Given the description of an element on the screen output the (x, y) to click on. 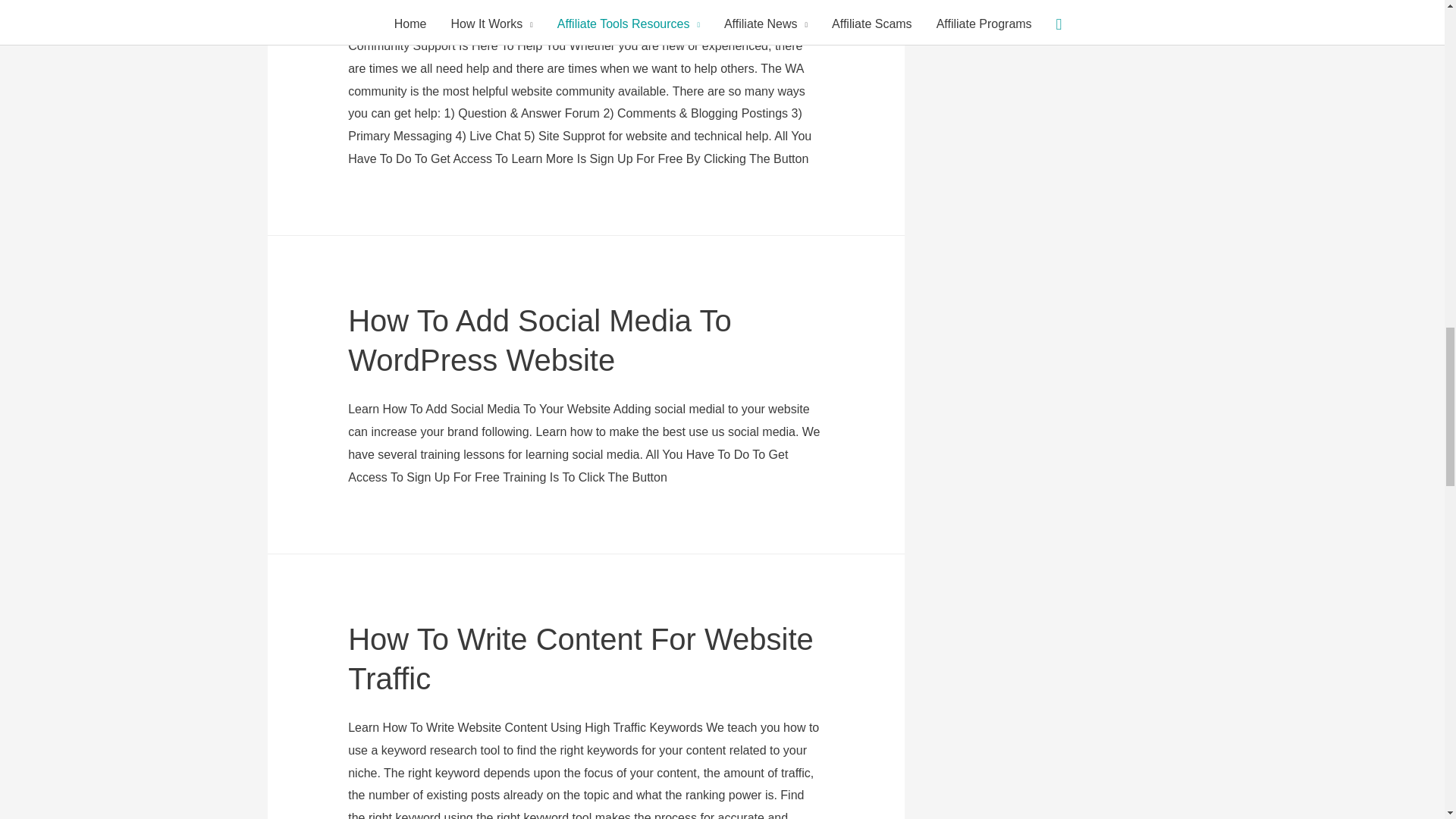
Help And Community Support Are Here For Website Owners (574, 6)
How To Add Social Media To WordPress Website (539, 339)
How To Write Content For Website Traffic (580, 658)
